Given the description of an element on the screen output the (x, y) to click on. 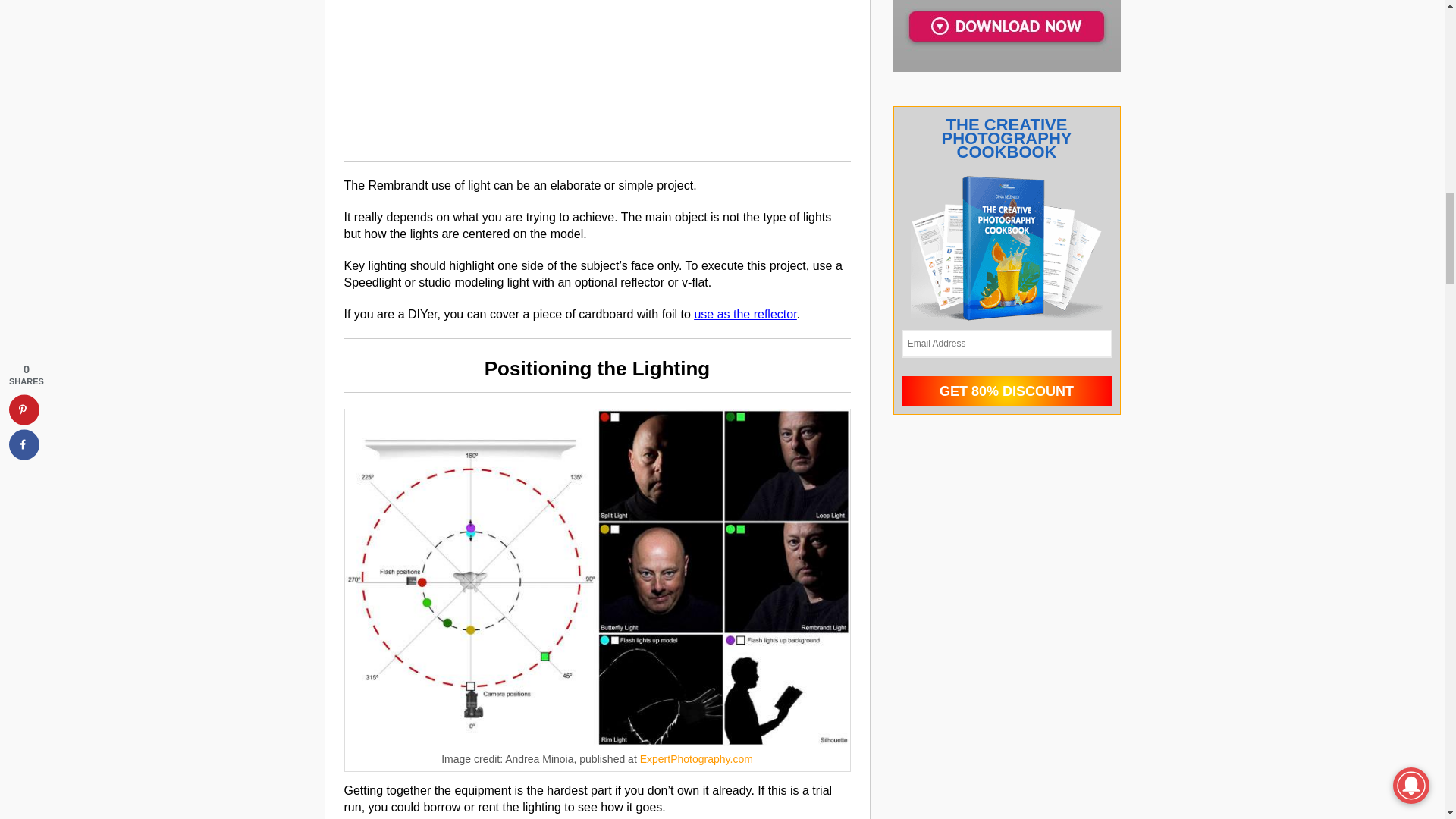
use as the reflector (745, 314)
